Given the description of an element on the screen output the (x, y) to click on. 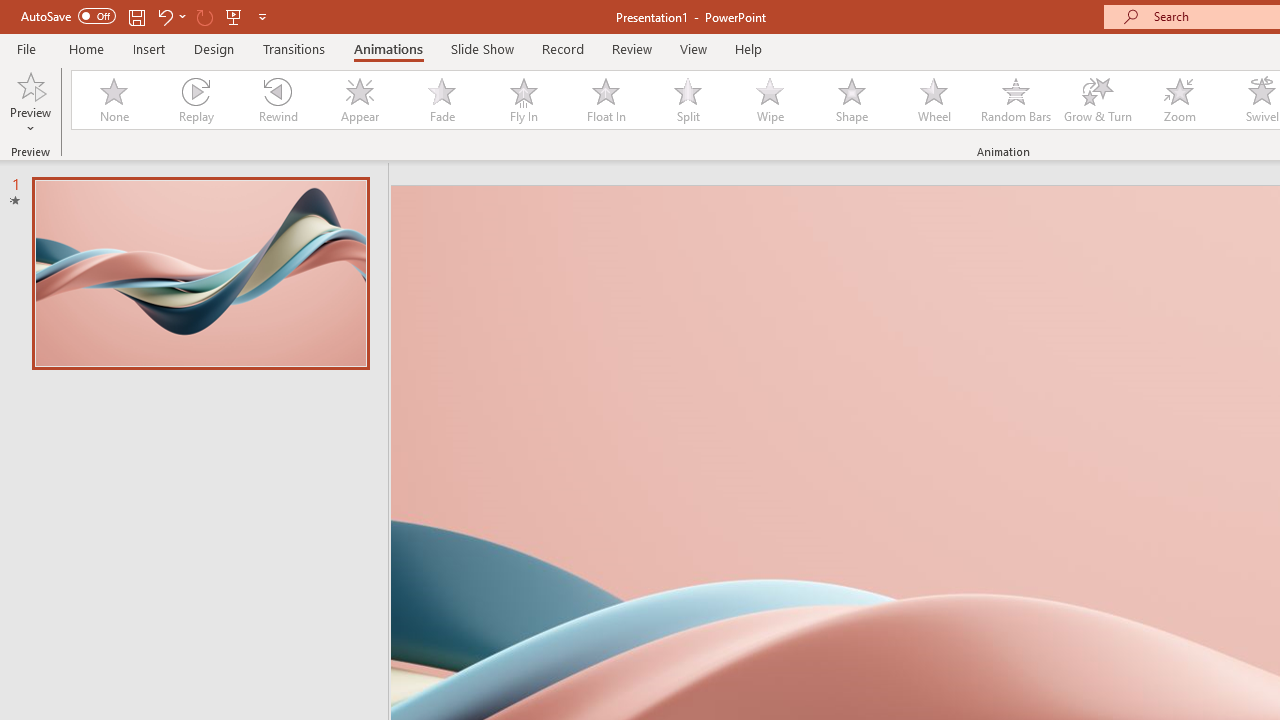
Wipe (770, 100)
Appear (359, 100)
Rewind (277, 100)
Grow & Turn (1098, 100)
